Given the description of an element on the screen output the (x, y) to click on. 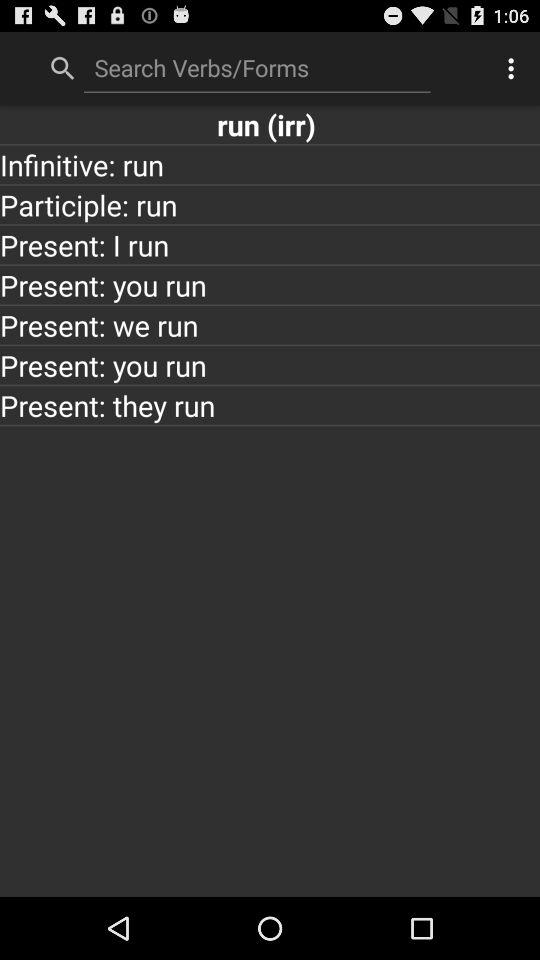
open item above present: i run item (270, 204)
